Given the description of an element on the screen output the (x, y) to click on. 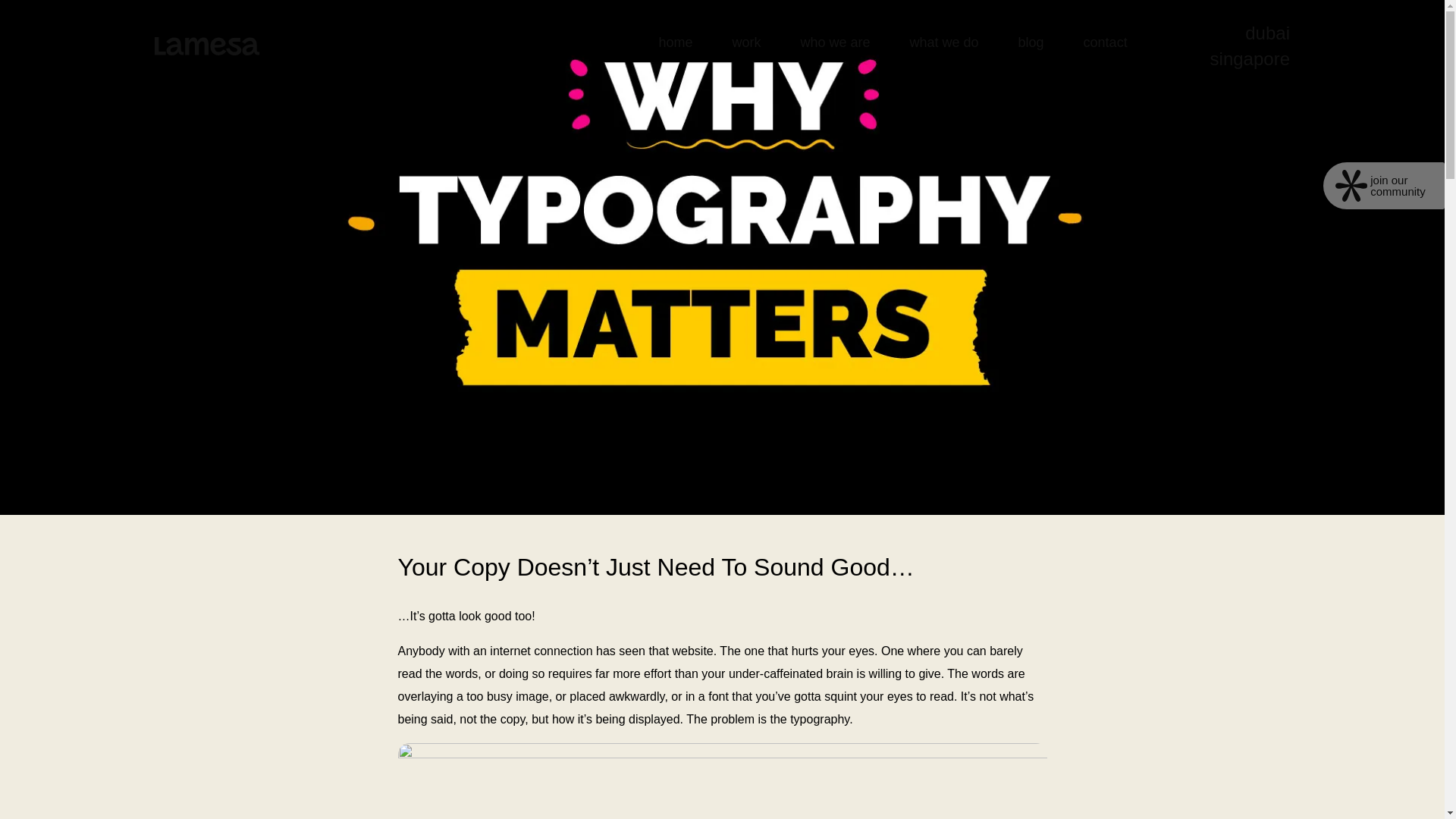
what we do (944, 42)
contact (1105, 42)
work (746, 42)
blog (1031, 42)
who we are (834, 42)
home (675, 42)
